Given the description of an element on the screen output the (x, y) to click on. 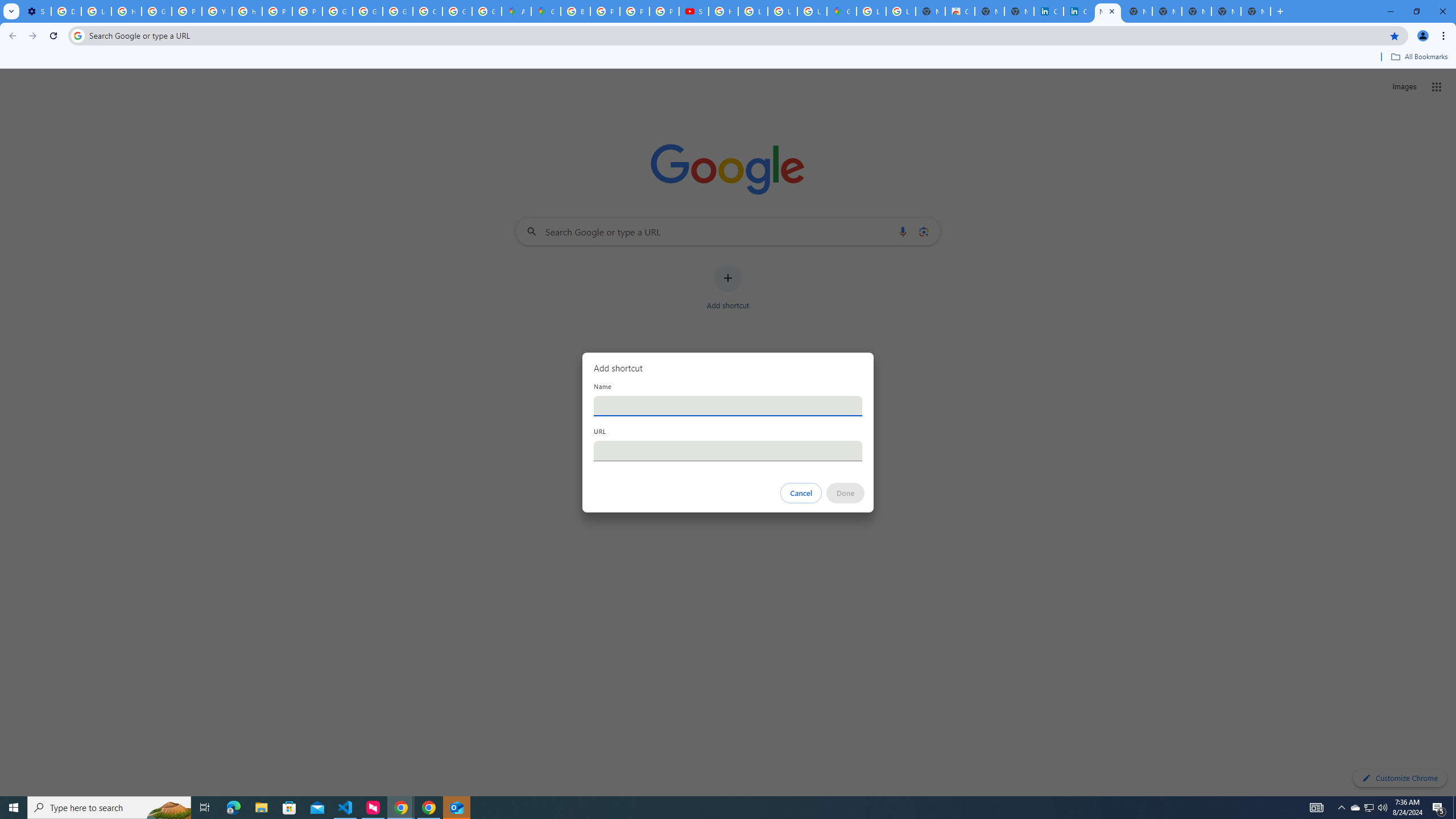
Delete photos & videos - Computer - Google Photos Help (65, 11)
Google Maps (841, 11)
Privacy Help Center - Policies Help (277, 11)
New Tab (1255, 11)
Subscriptions - YouTube (693, 11)
Cookie Policy | LinkedIn (1077, 11)
Privacy Help Center - Policies Help (185, 11)
